Given the description of an element on the screen output the (x, y) to click on. 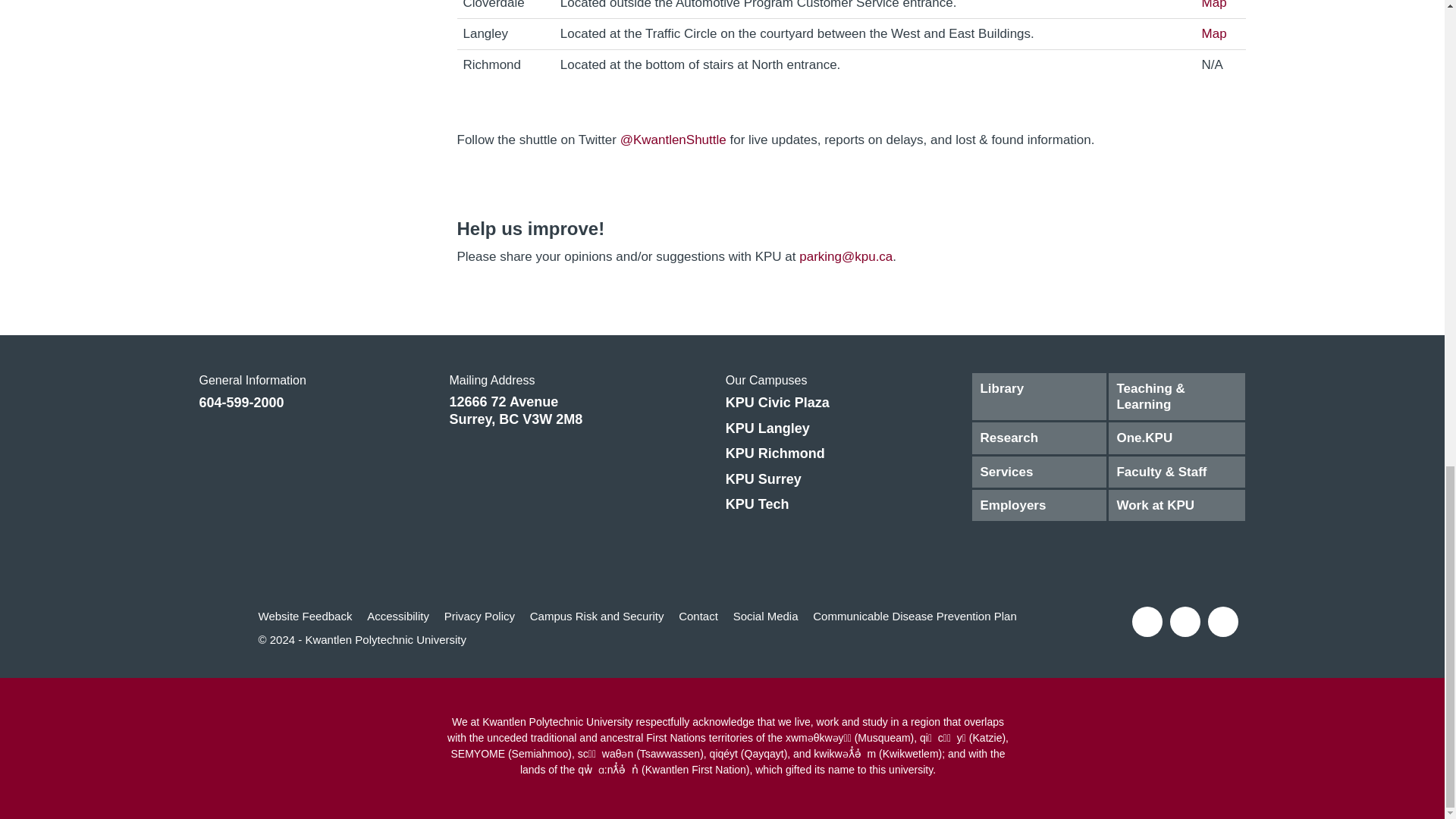
Cloverdale Shuttle Location (1214, 4)
Map (1214, 33)
Langley Shuttle Location (1214, 33)
Map (1214, 4)
